Given the description of an element on the screen output the (x, y) to click on. 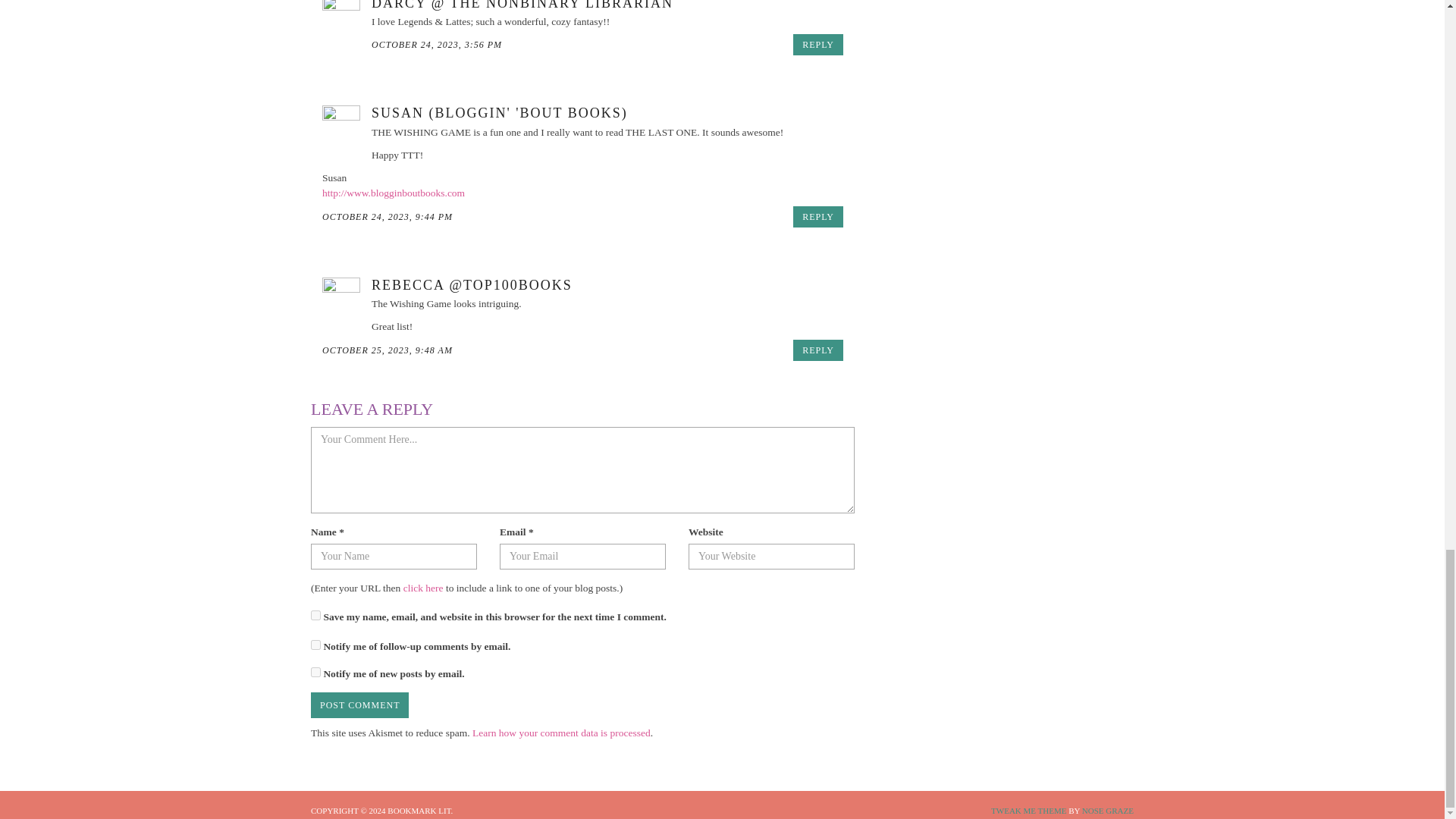
Post Comment (360, 705)
subscribe (315, 644)
yes (315, 614)
subscribe (315, 672)
